Given the description of an element on the screen output the (x, y) to click on. 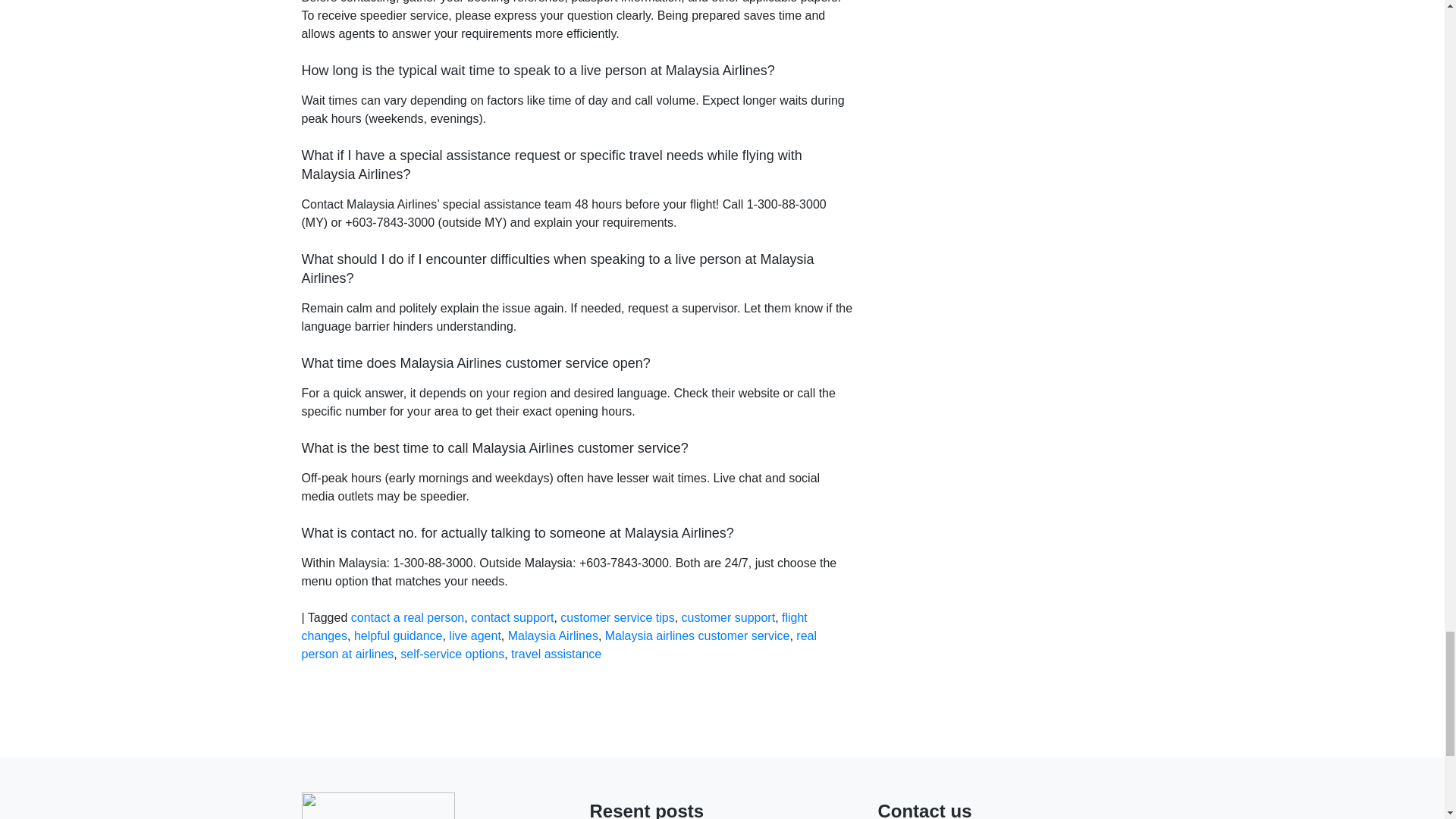
helpful guidance (397, 635)
contact a real person (407, 617)
self-service options (451, 653)
customer service tips (617, 617)
Malaysia airlines customer service (697, 635)
travel assistance (556, 653)
real person at airlines (558, 644)
contact support (511, 617)
flight changes (554, 626)
Malaysia Airlines (553, 635)
